Given the description of an element on the screen output the (x, y) to click on. 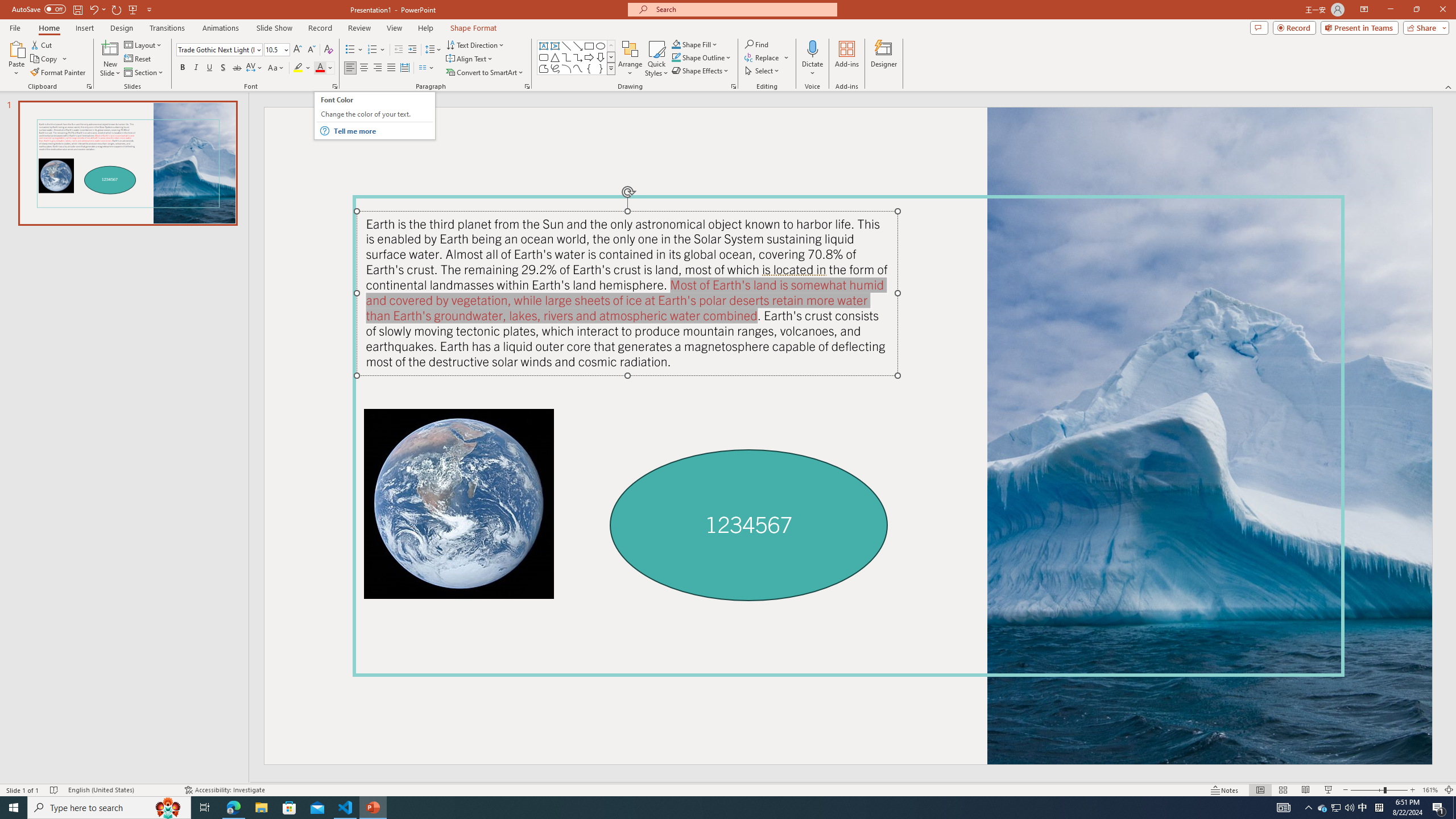
Shape Fill Aqua, Accent 2 (675, 44)
